Given the description of an element on the screen output the (x, y) to click on. 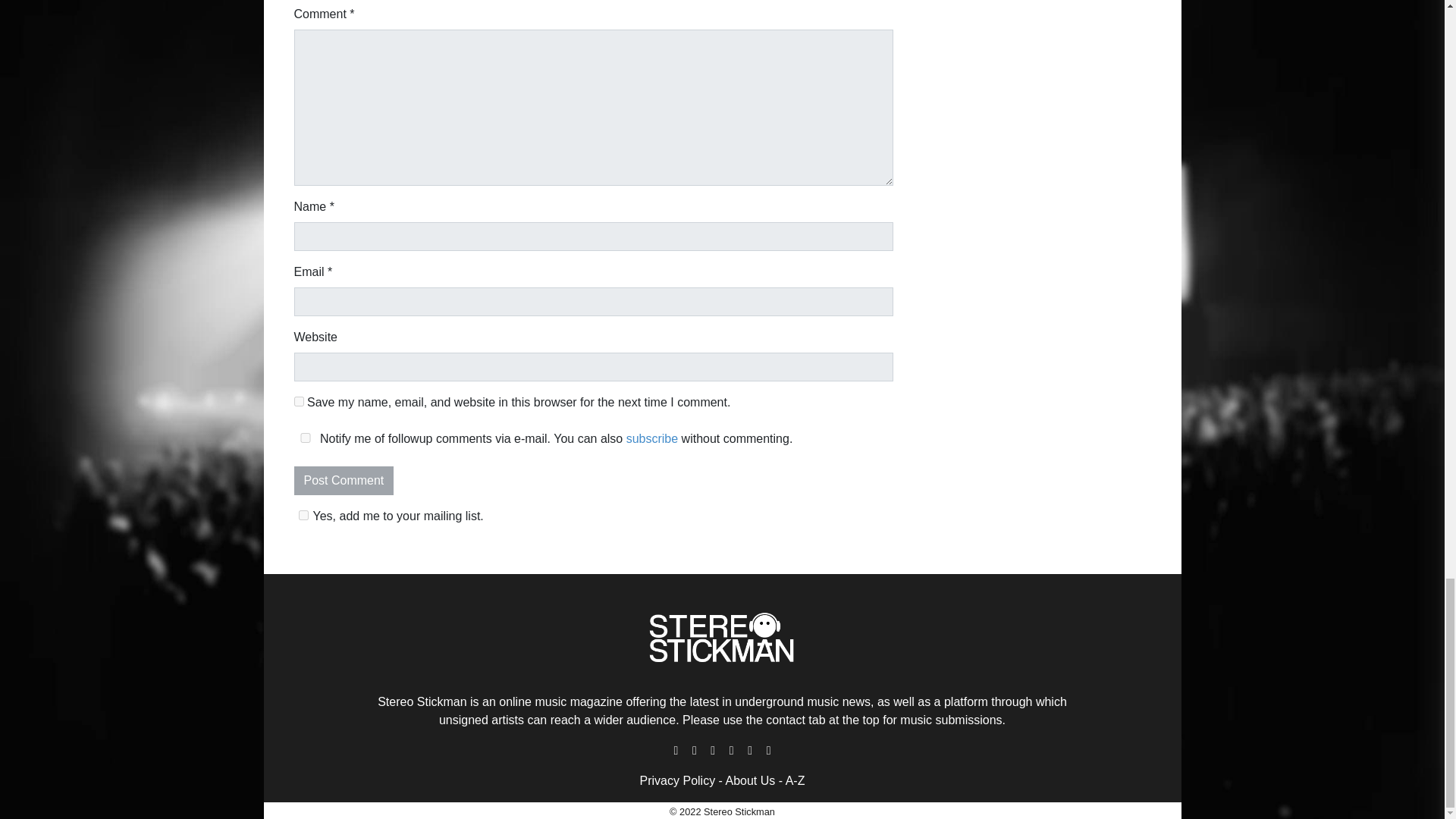
1 (303, 515)
yes (305, 438)
subscribe (652, 438)
Post Comment (344, 480)
Post Comment (344, 480)
yes (299, 401)
